Given the description of an element on the screen output the (x, y) to click on. 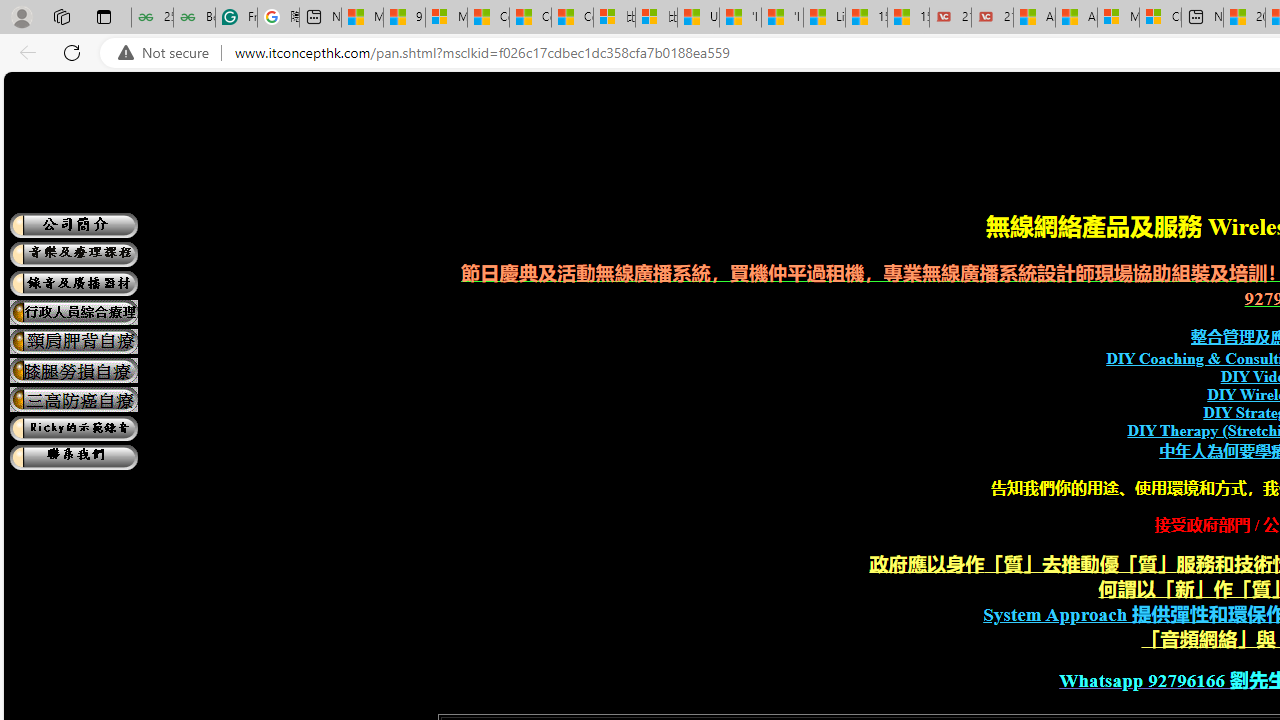
15 Ways Modern Life Contradicts the Teachings of Jesus (908, 17)
Best SSL Certificates Provider in India - GeeksforGeeks (194, 17)
Free AI Writing Assistance for Students | Grammarly (236, 17)
Cloud Computing Services | Microsoft Azure (1160, 17)
Lifestyle - MSN (823, 17)
